Given the description of an element on the screen output the (x, y) to click on. 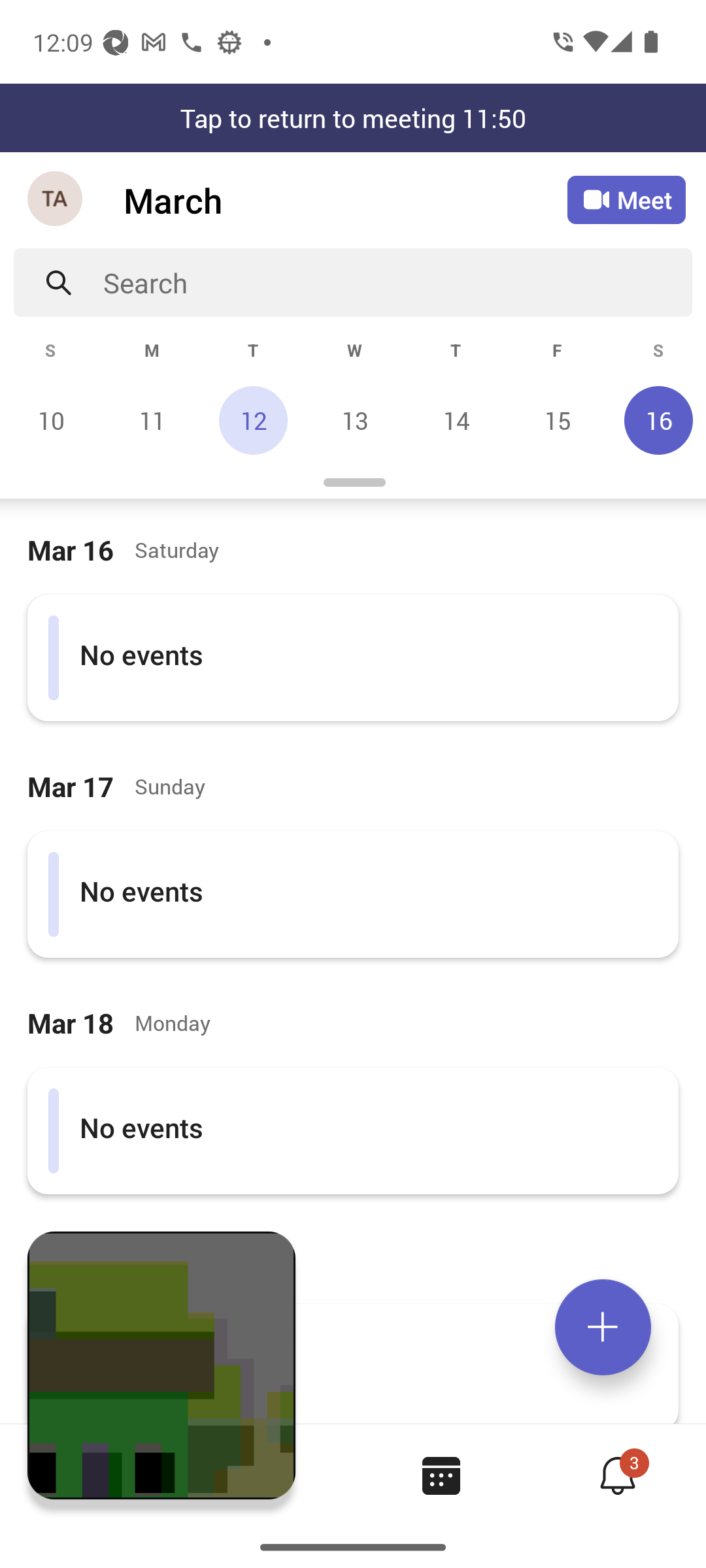
Tap to return to meeting 11:50 (353, 117)
Navigation (56, 199)
Meet Meet now or join with an ID (626, 199)
March March Calendar Agenda View (345, 199)
Search (397, 281)
Sunday, March 10 10 (50, 420)
Monday, March 11 11 (151, 420)
Tuesday, March 12, Today 12 (253, 420)
Wednesday, March 13 13 (354, 420)
Thursday, March 14 14 (455, 420)
Friday, March 15 15 (556, 420)
Saturday, March 16, Selected 16 (656, 420)
Expand meetings menu (602, 1327)
Calendar tab, 3 of 4 (441, 1475)
Activity tab,4 of 4, not selected, 3 new 3 (617, 1475)
